Given the description of an element on the screen output the (x, y) to click on. 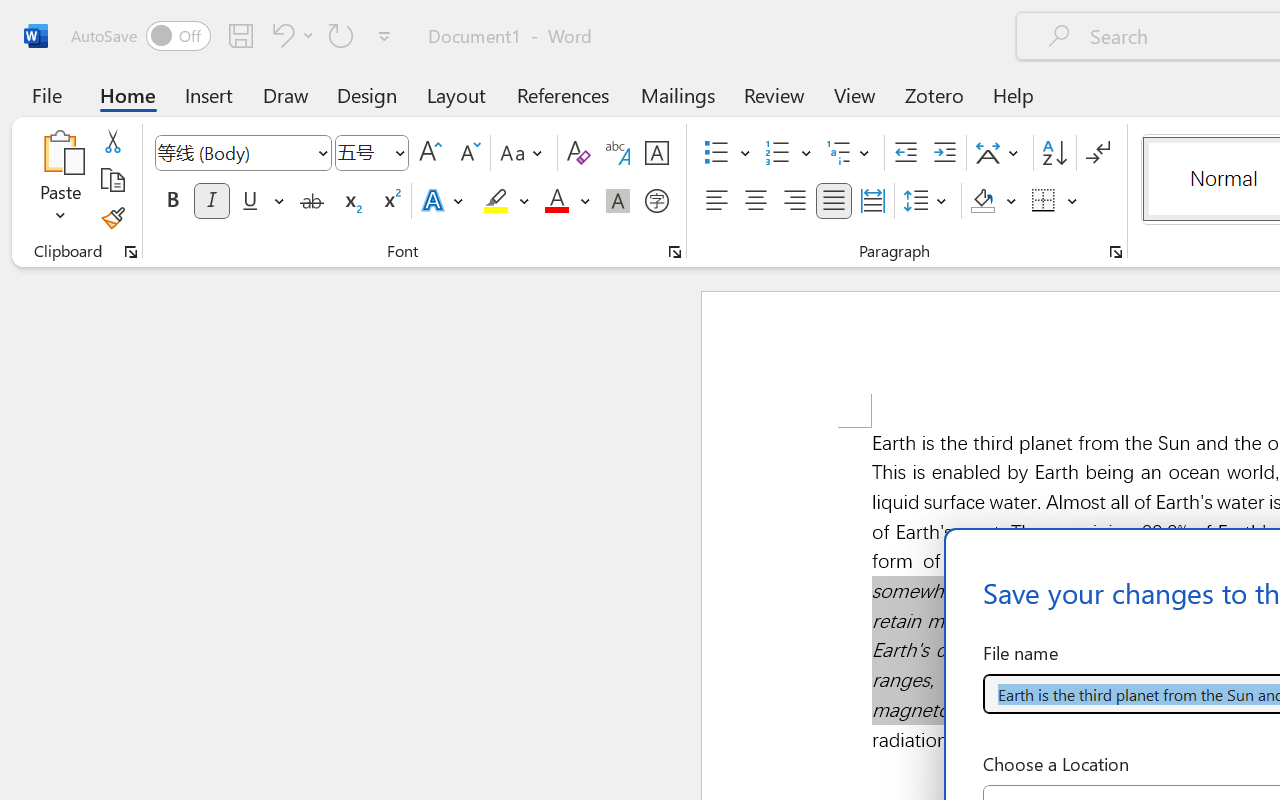
Align Right (794, 201)
Strikethrough (312, 201)
Text Highlight Color (506, 201)
Shrink Font (468, 153)
Enclose Characters... (656, 201)
Paragraph... (1115, 252)
Copy (112, 179)
Asian Layout (1000, 153)
Clear Formatting (578, 153)
Undo Italic (280, 35)
